Given the description of an element on the screen output the (x, y) to click on. 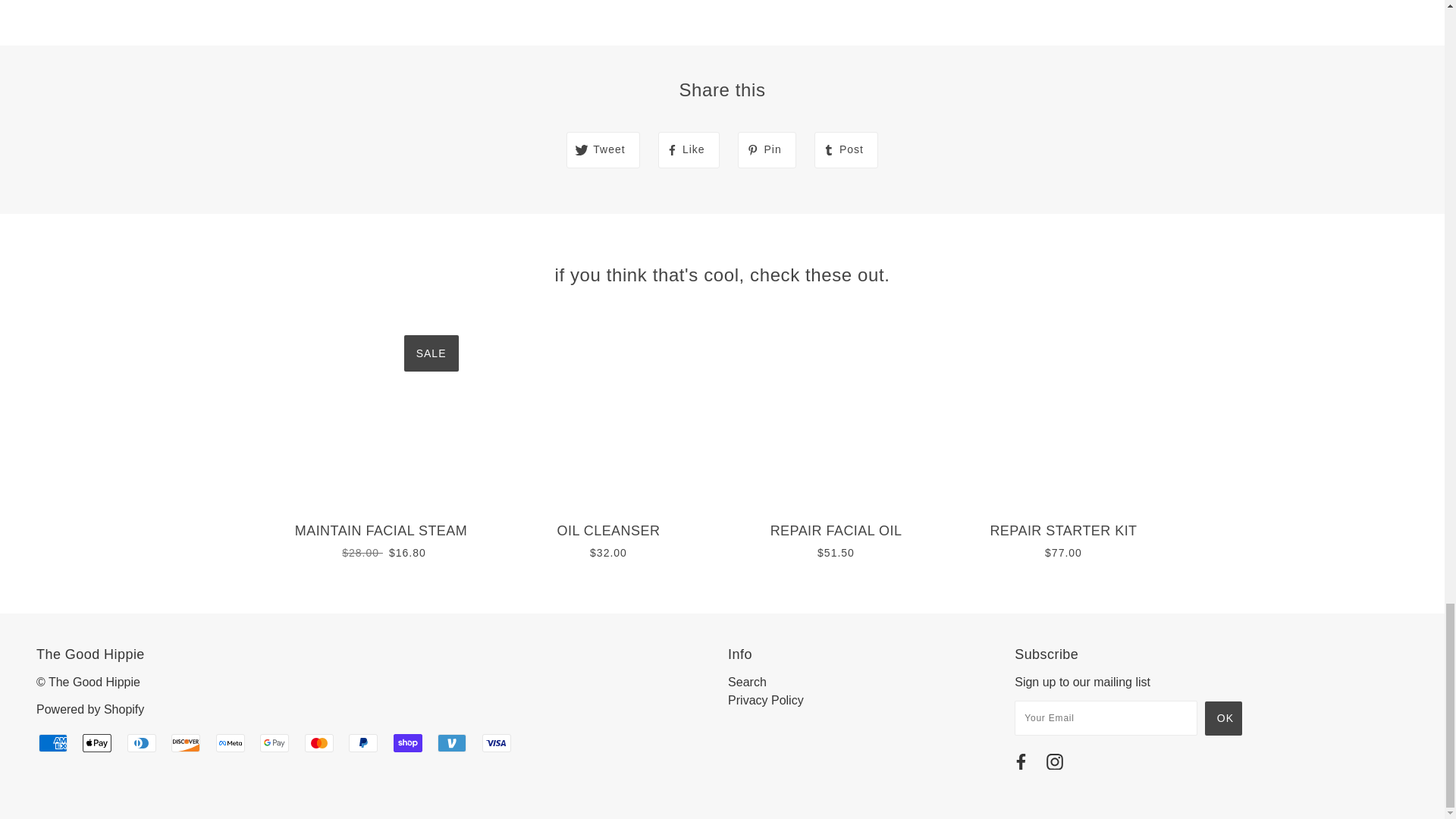
Apple Pay (97, 742)
Search (747, 681)
Meta Pay (229, 742)
American Express (52, 742)
Mastercard (318, 742)
PayPal (363, 742)
Diners Club (141, 742)
Privacy Policy (765, 699)
Discover (185, 742)
Google Pay (274, 742)
Ok (1223, 718)
